Given the description of an element on the screen output the (x, y) to click on. 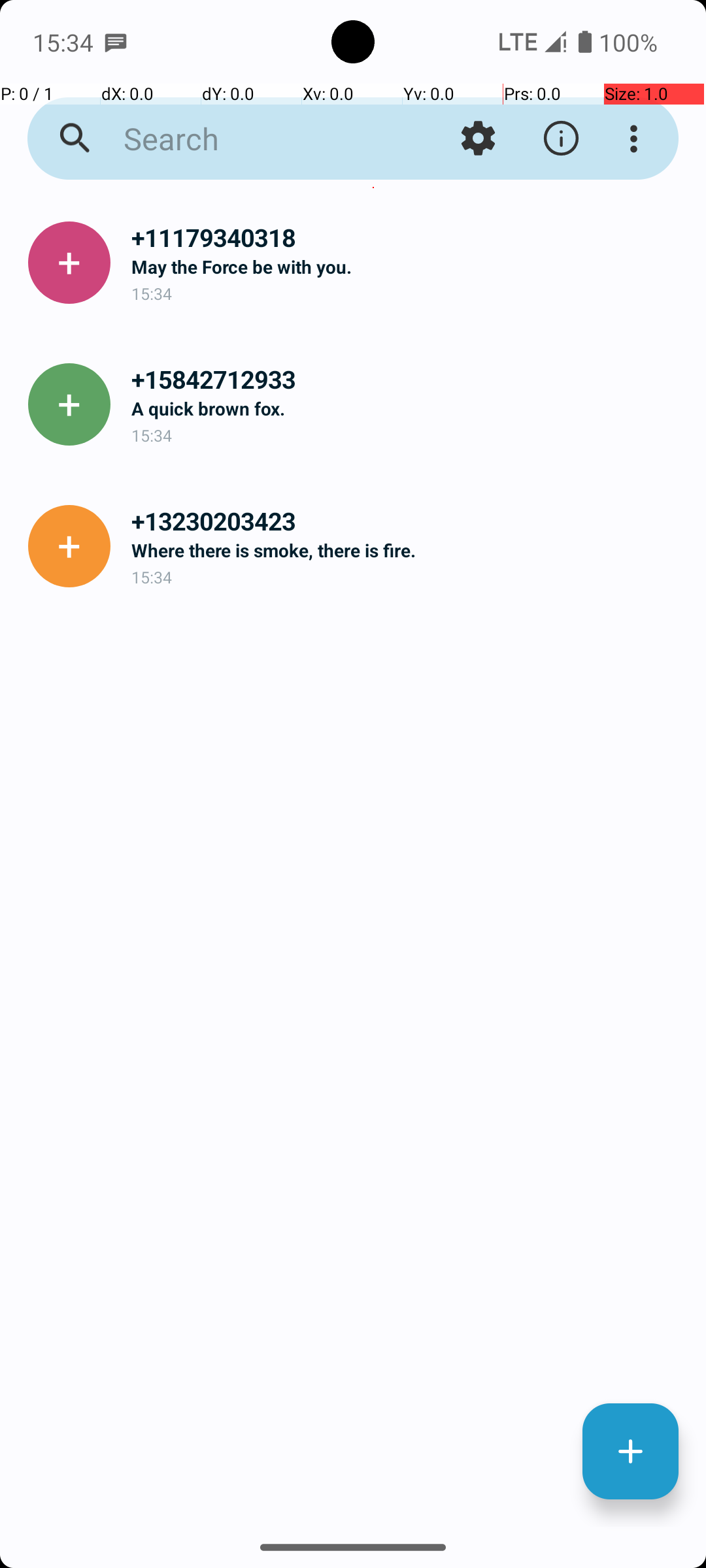
+11179340318 Element type: android.widget.TextView (408, 237)
May the Force be with you. Element type: android.widget.TextView (408, 266)
+15842712933 Element type: android.widget.TextView (408, 378)
A quick brown fox. Element type: android.widget.TextView (408, 407)
+13230203423 Element type: android.widget.TextView (408, 520)
Where there is smoke, there is fire. Element type: android.widget.TextView (408, 549)
